Given the description of an element on the screen output the (x, y) to click on. 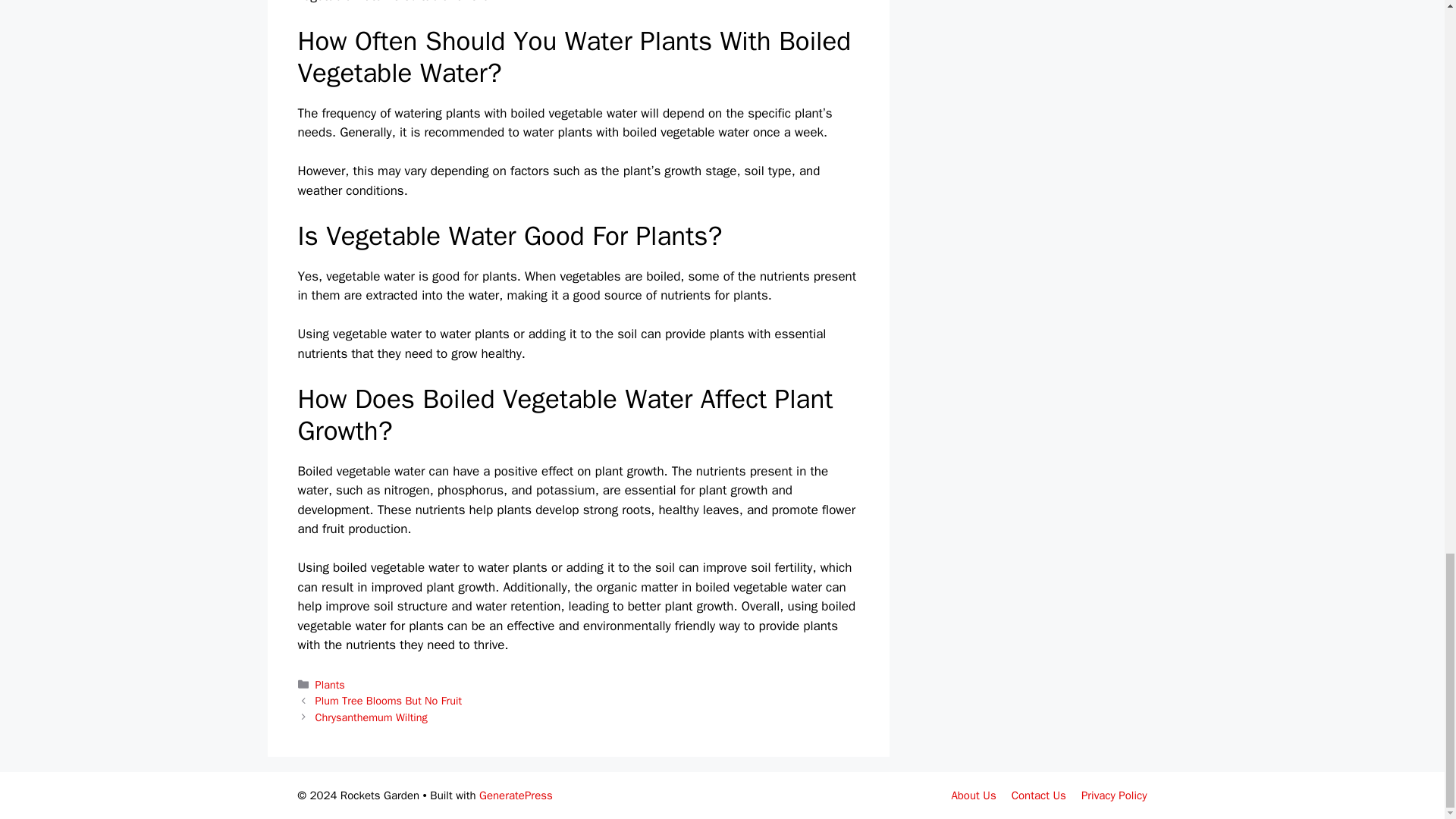
Plum Tree Blooms But No Fruit (388, 700)
Contact Us (1038, 795)
GeneratePress (516, 795)
About Us (972, 795)
Plants (330, 684)
Privacy Policy (1114, 795)
Chrysanthemum Wilting (371, 716)
